Given the description of an element on the screen output the (x, y) to click on. 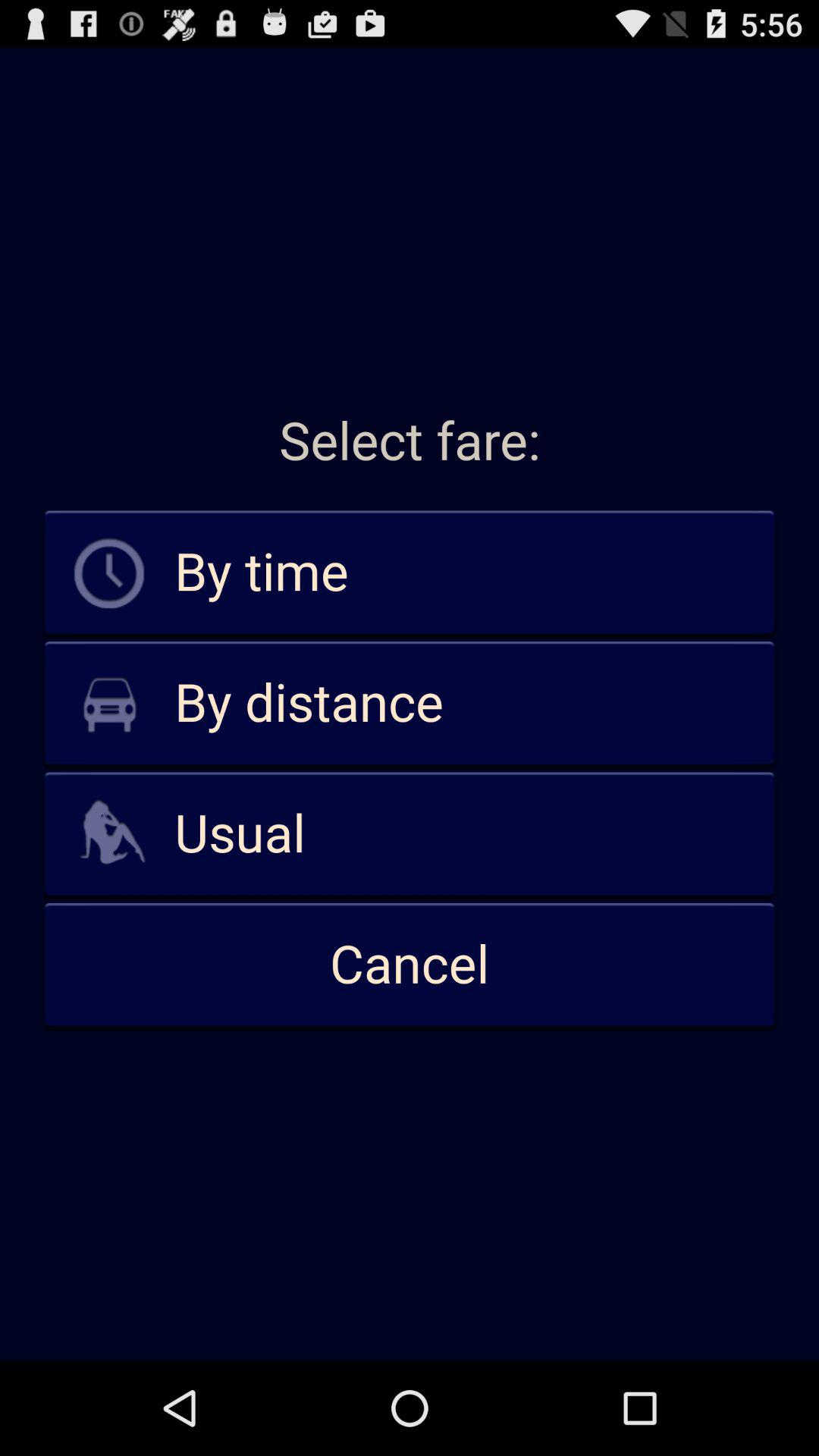
open the by time icon (409, 572)
